Given the description of an element on the screen output the (x, y) to click on. 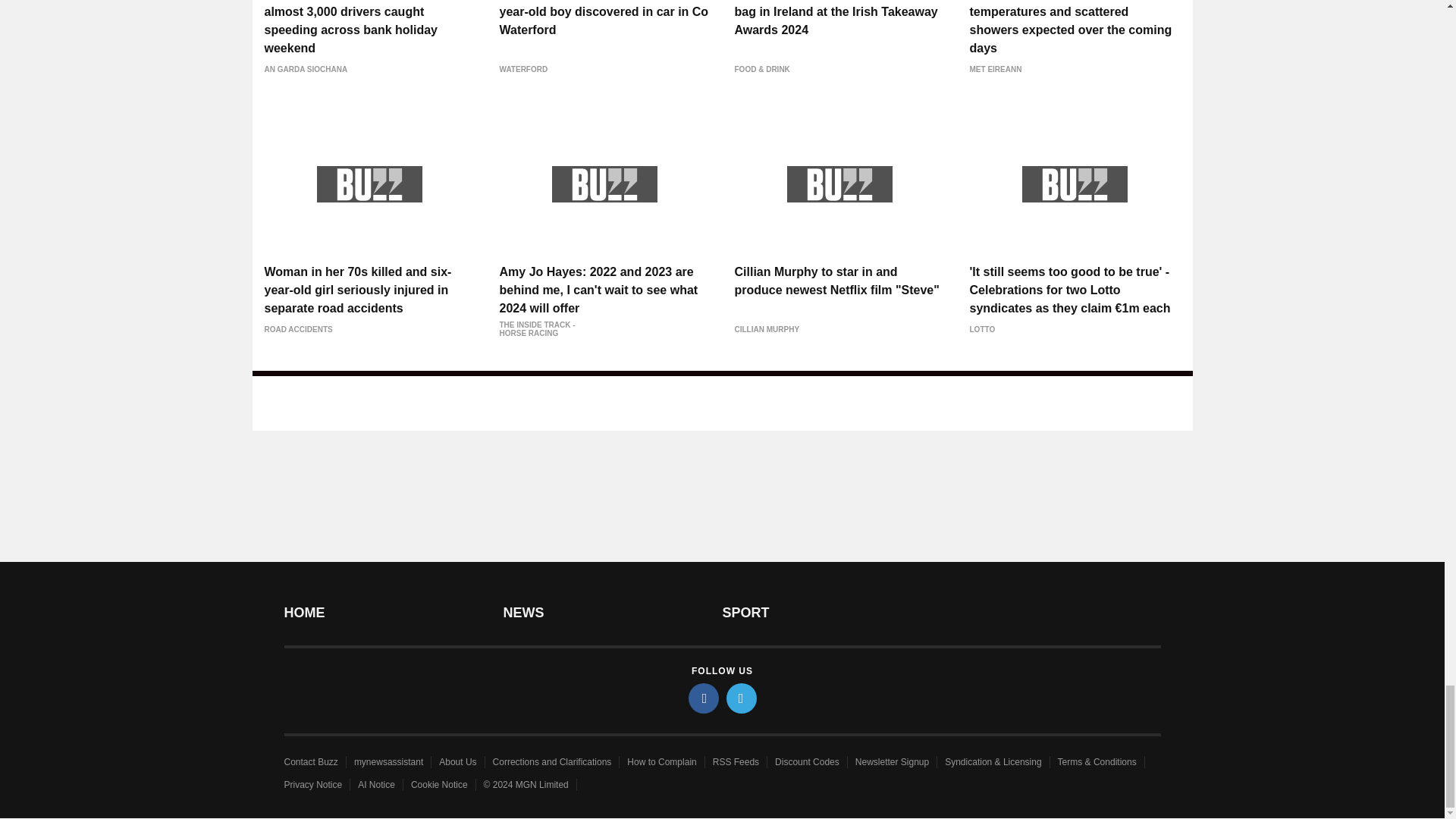
facebook (703, 698)
twitter (741, 698)
